Given the description of an element on the screen output the (x, y) to click on. 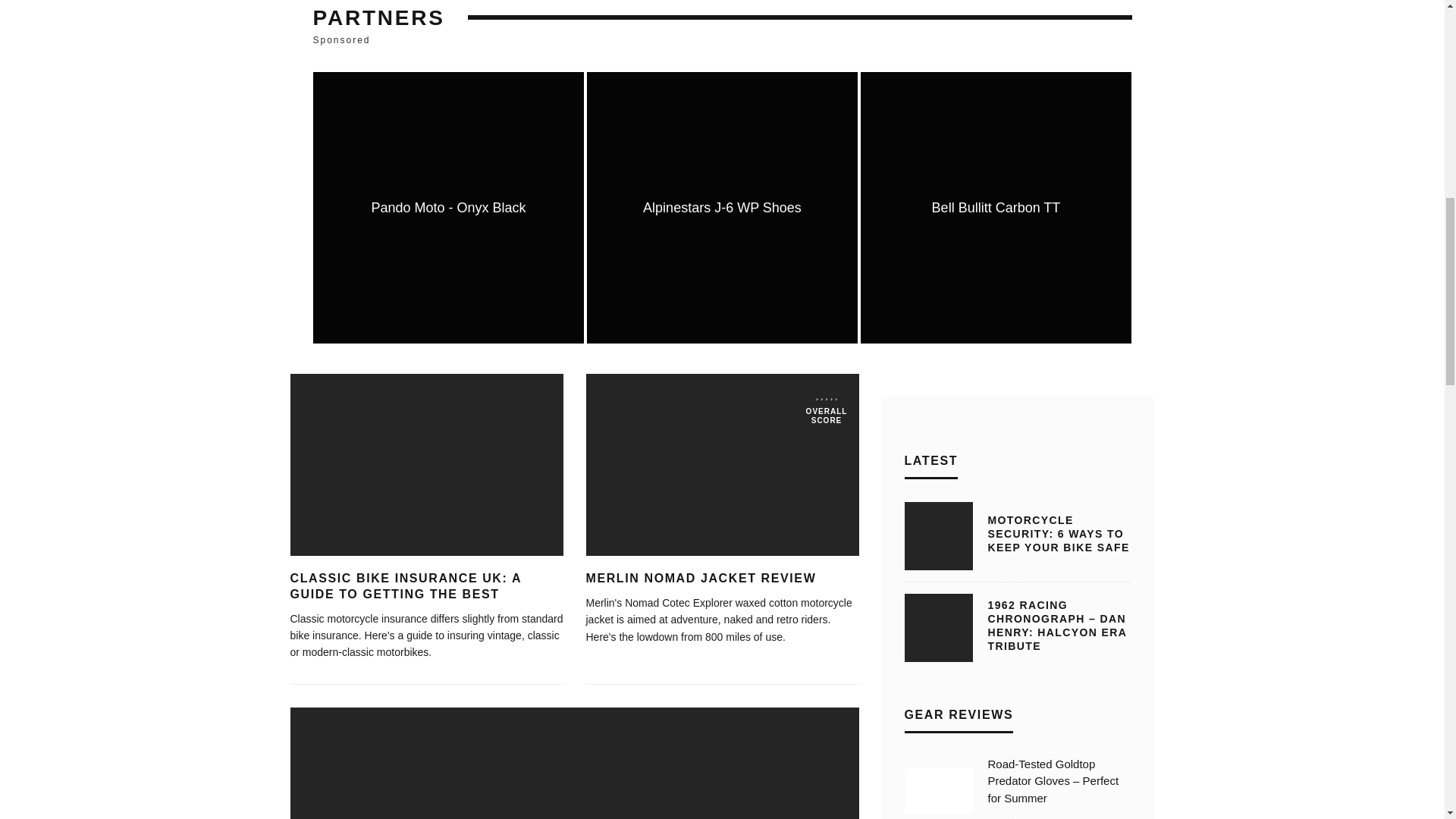
CLASSIC BIKE INSURANCE UK: A GUIDE TO GETTING THE BEST (405, 585)
OVERALL SCORE (722, 464)
MERLIN NOMAD JACKET REVIEW (700, 577)
